Given the description of an element on the screen output the (x, y) to click on. 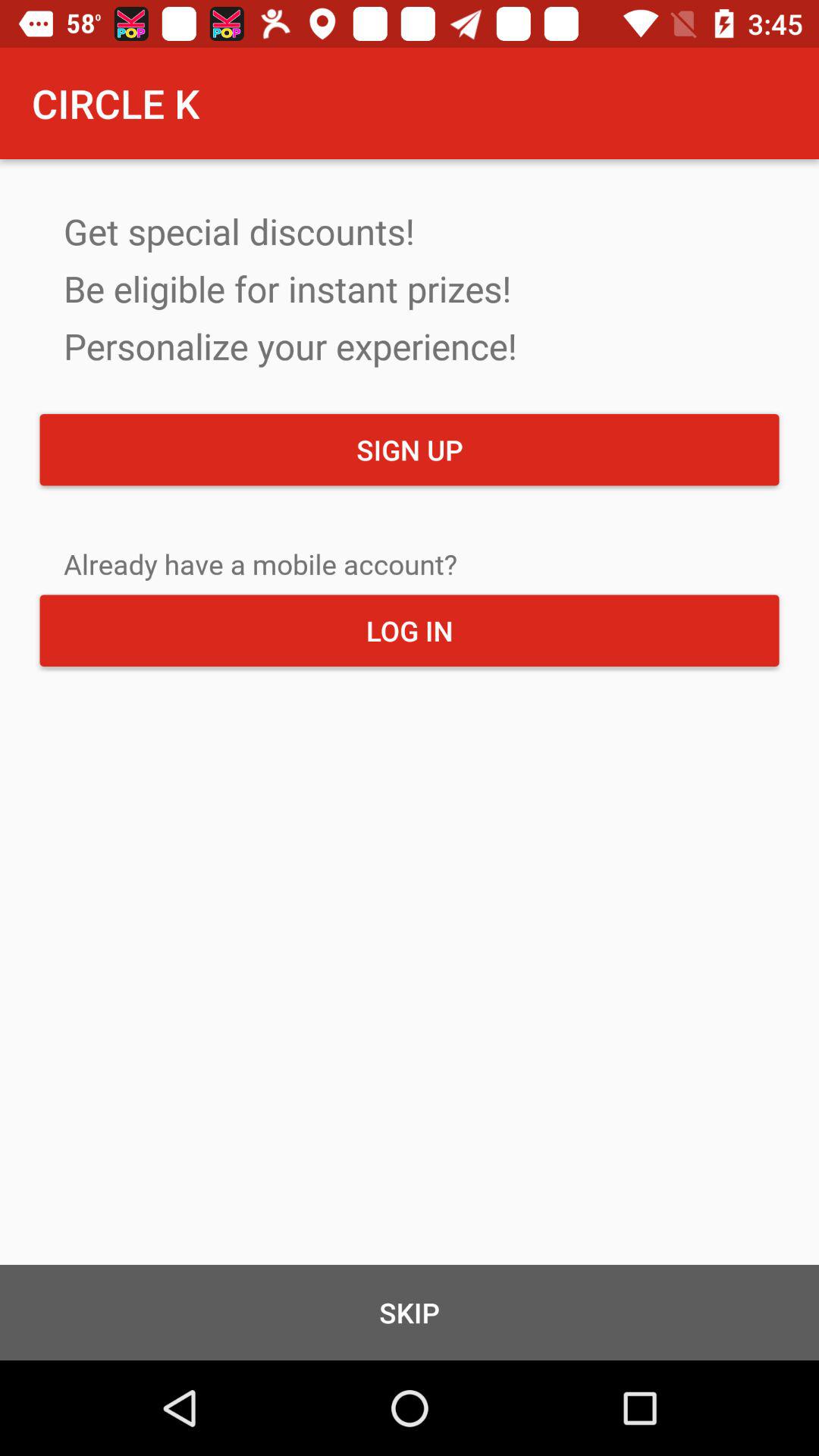
turn off icon below the already have a item (409, 630)
